Given the description of an element on the screen output the (x, y) to click on. 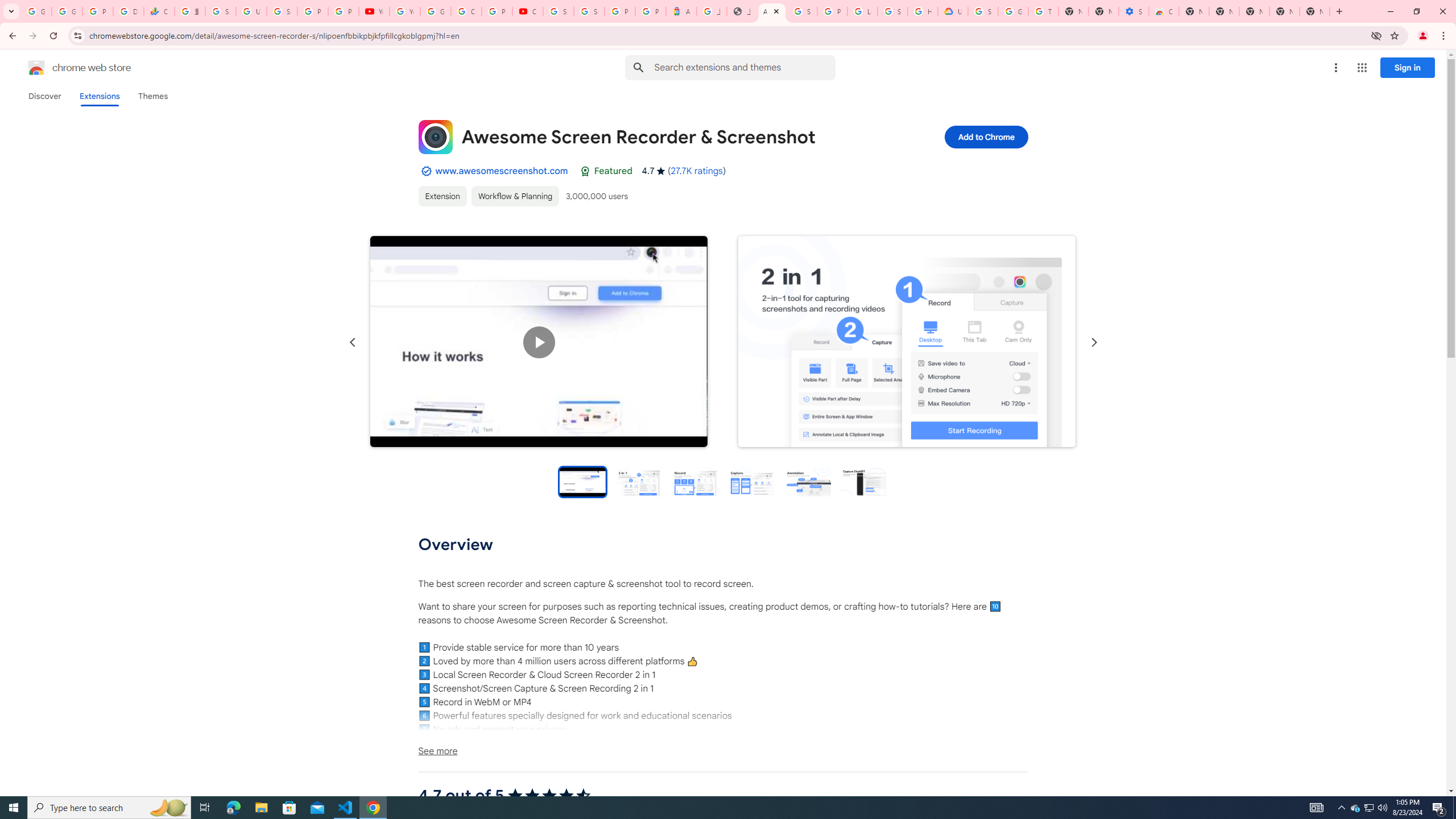
Preview slide 3 (694, 481)
Preview slide 6 (863, 481)
Sign in - Google Accounts (589, 11)
Create your Google Account (465, 11)
Next slide (1093, 342)
Extensions (99, 95)
Google Account Help (1012, 11)
YouTube (404, 11)
See more (722, 751)
Extension (442, 195)
